Given the description of an element on the screen output the (x, y) to click on. 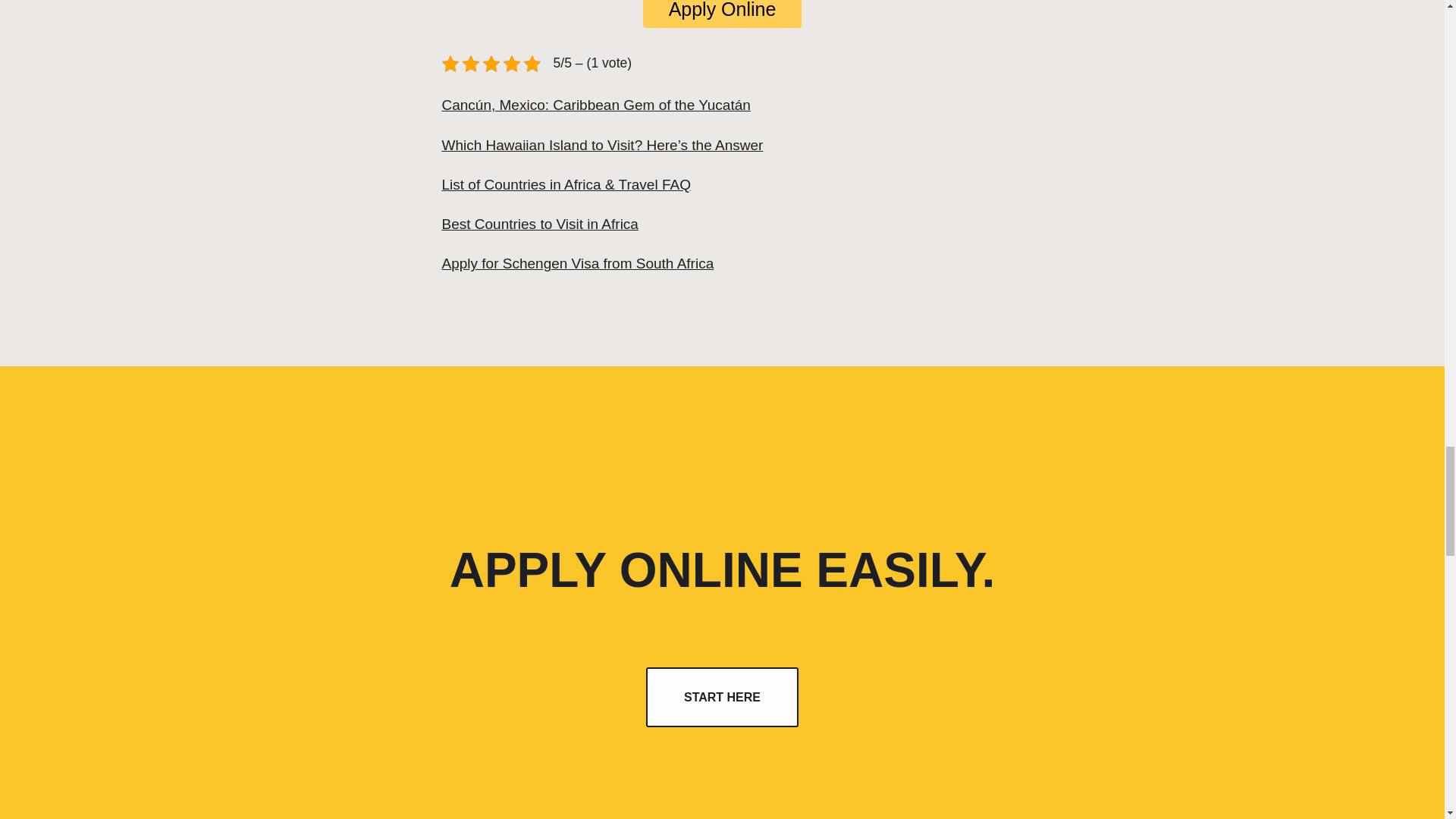
Apply for Schengen Visa from South Africa (577, 263)
Best Countries to Visit in Africa (539, 223)
START HERE (721, 697)
Apply Visa Online (722, 13)
Apply Online (722, 13)
